Given the description of an element on the screen output the (x, y) to click on. 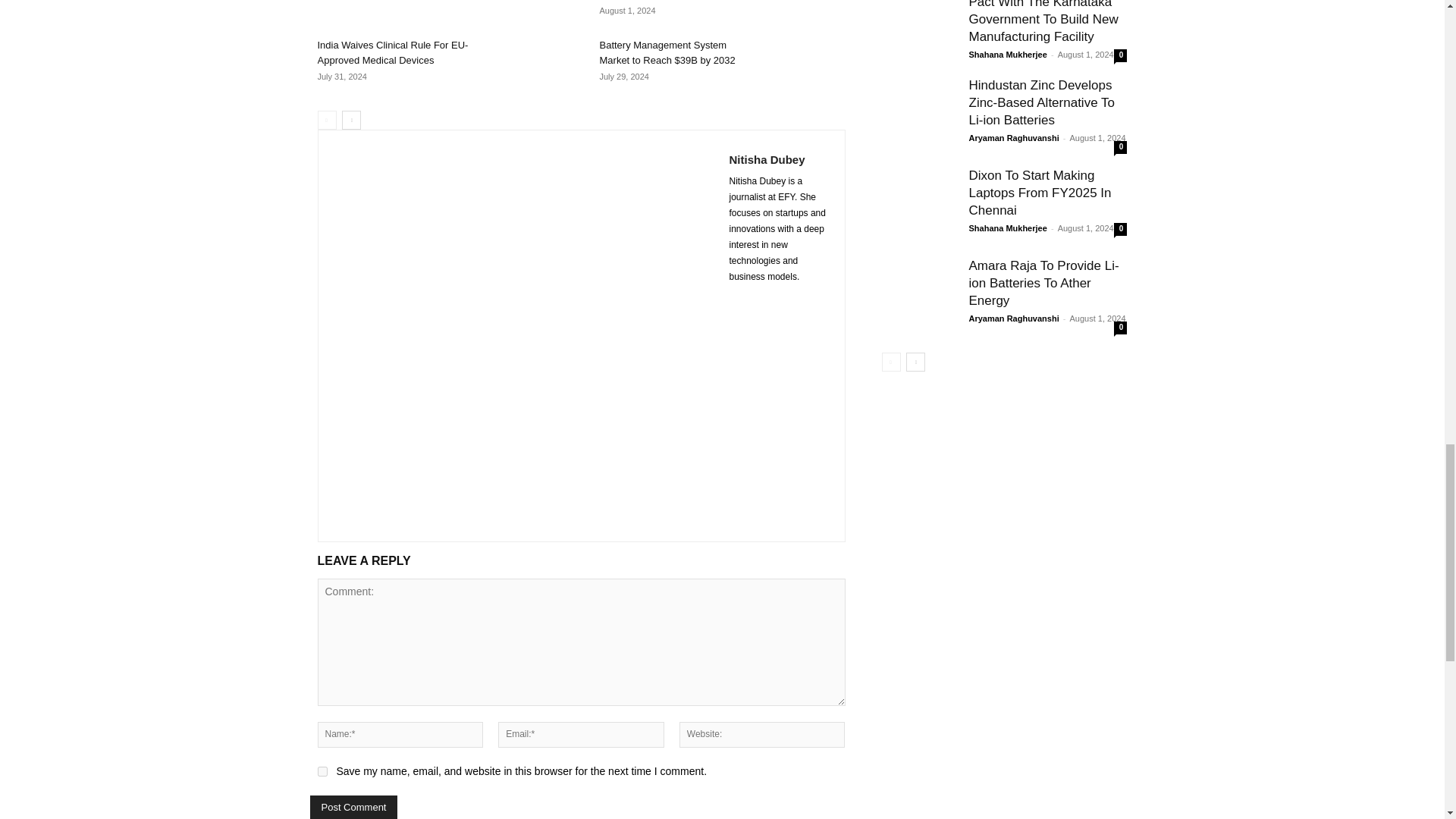
Post Comment (352, 807)
yes (321, 771)
